Given the description of an element on the screen output the (x, y) to click on. 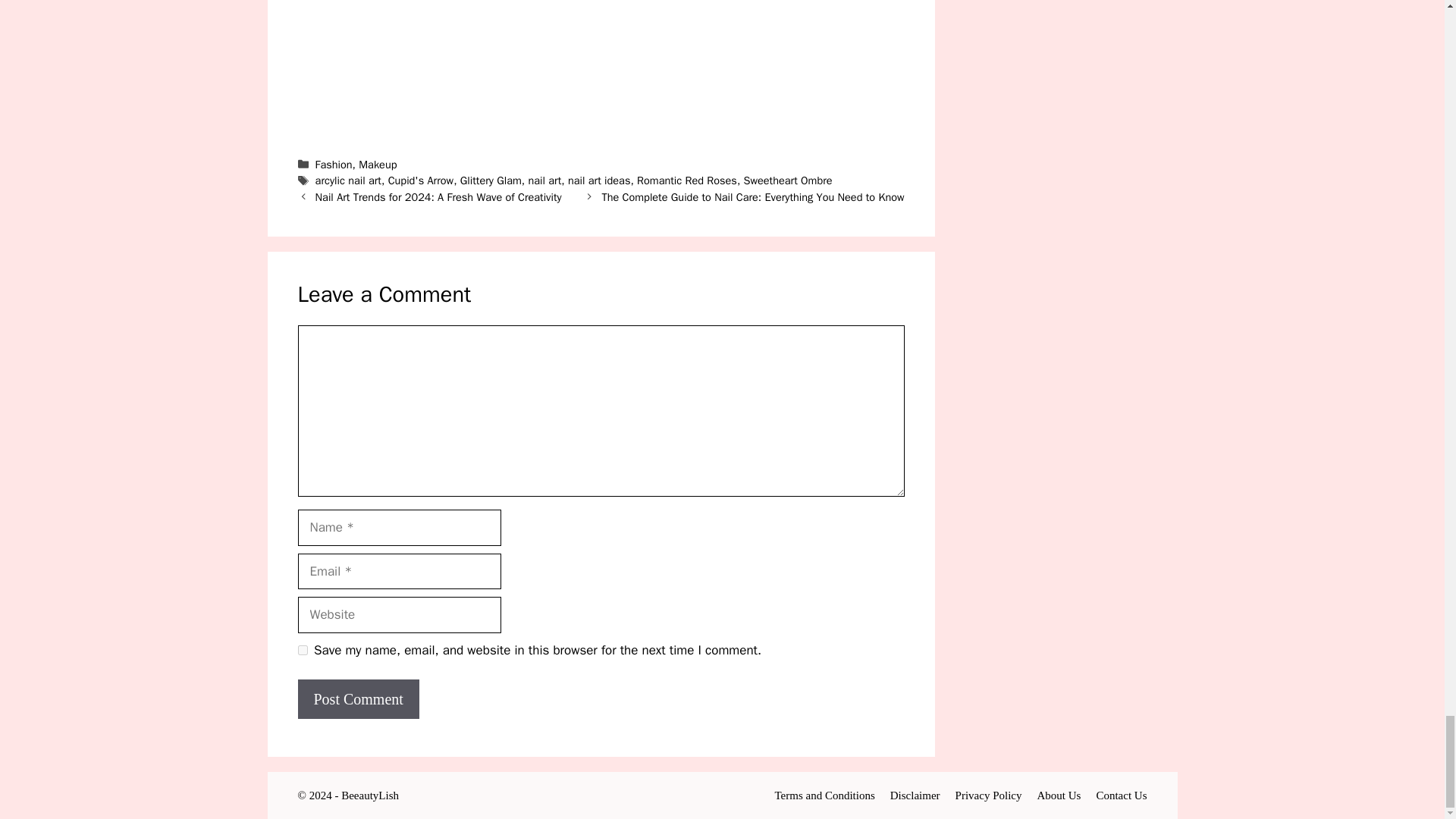
Post Comment (358, 699)
yes (302, 650)
